Given the description of an element on the screen output the (x, y) to click on. 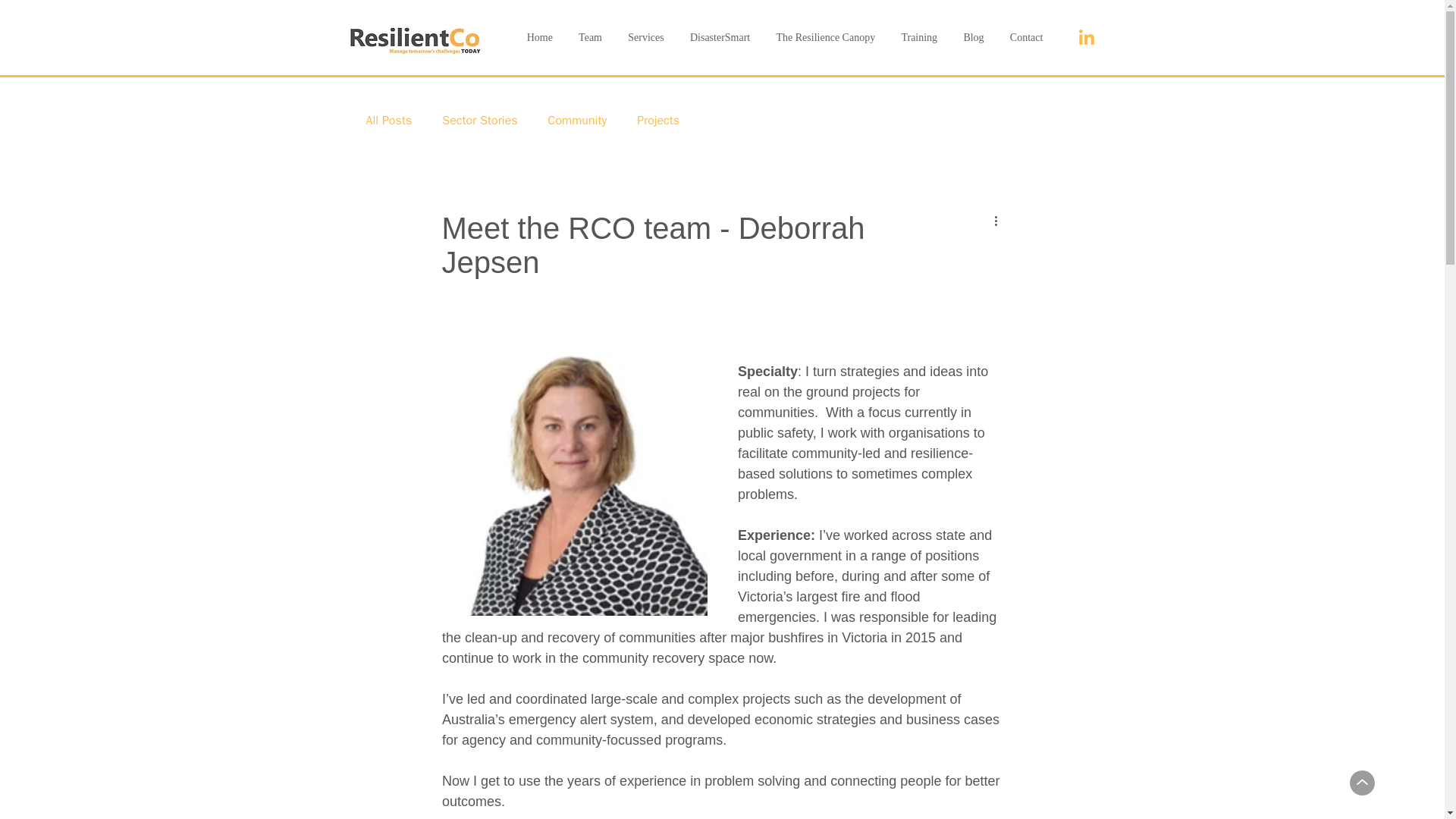
Sector Stories (479, 119)
DisasterSmart (719, 37)
Blog (972, 37)
Contact (1026, 37)
Team (590, 37)
Training (919, 37)
Services (645, 37)
Home (539, 37)
All Posts (388, 119)
Community (577, 119)
The Resilience Canopy (825, 37)
Projects (658, 119)
